Given the description of an element on the screen output the (x, y) to click on. 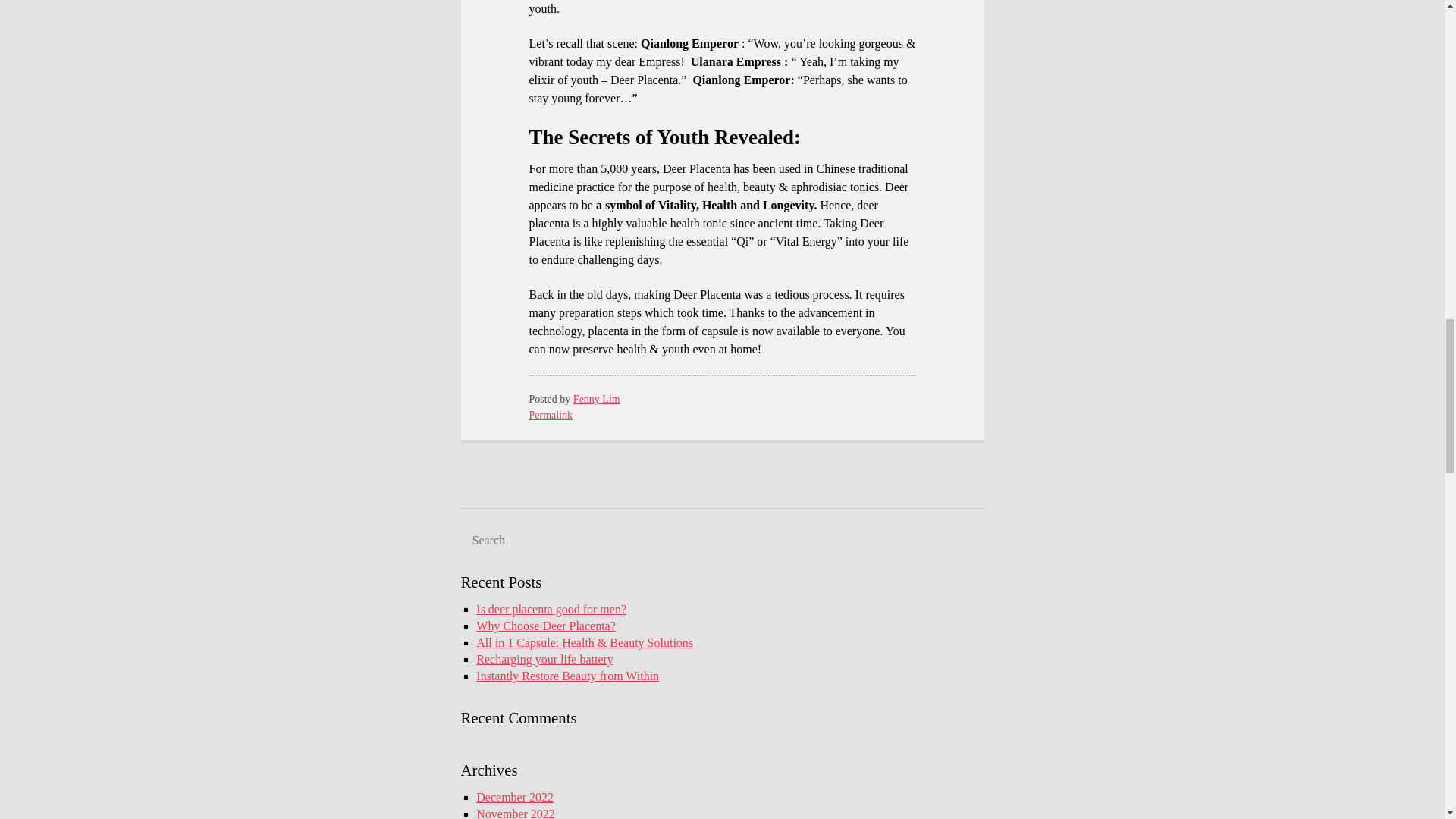
Is deer placenta good for men? (551, 608)
Instantly Restore Beauty from Within (567, 675)
December 2022 (514, 797)
Why Choose Deer Placenta? (545, 625)
View all posts by Fenny Lim (596, 398)
Recharging your life battery (544, 658)
Permalink (551, 414)
November 2022 (515, 813)
Fenny Lim (596, 398)
